Given the description of an element on the screen output the (x, y) to click on. 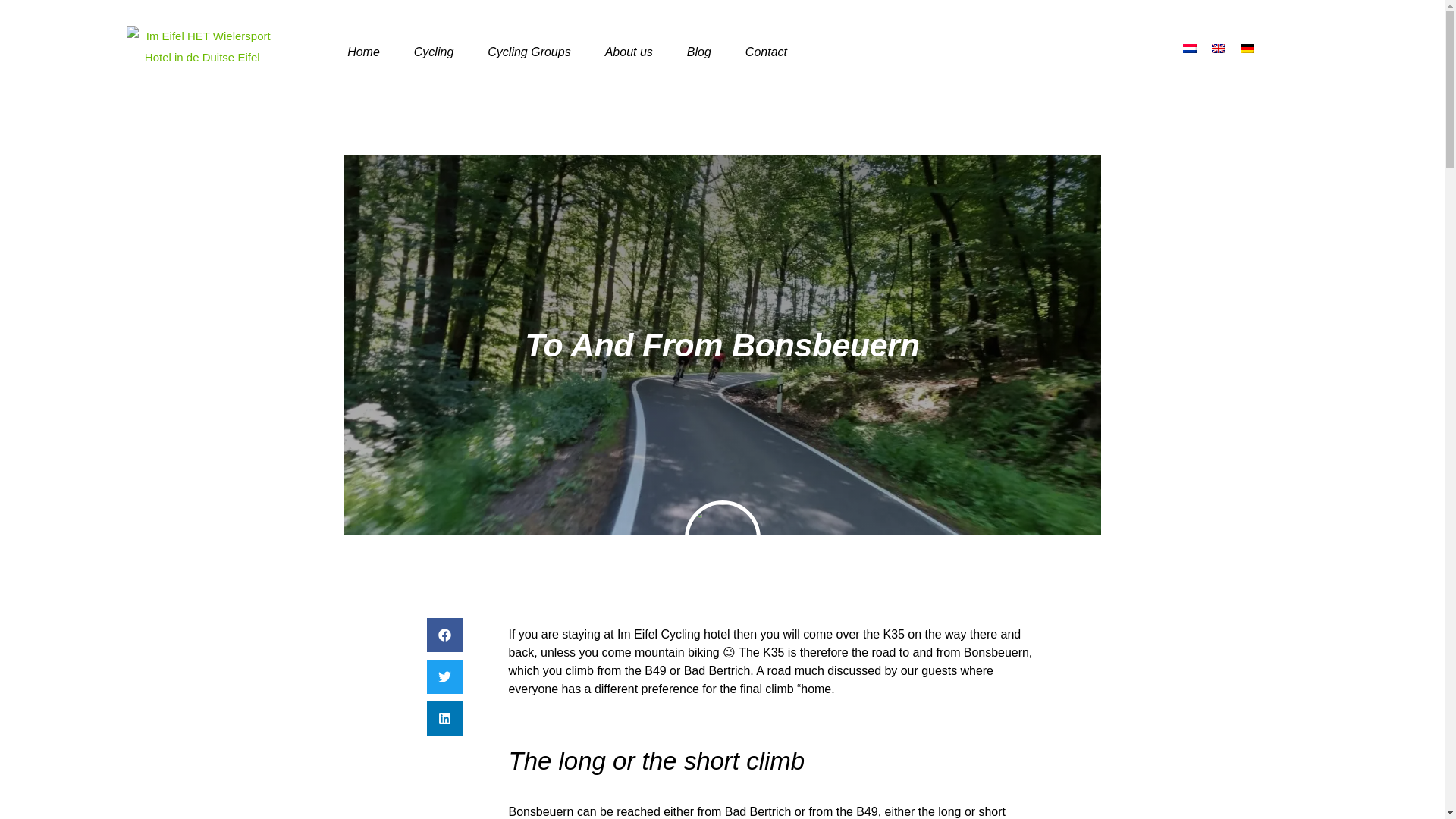
About us (628, 51)
Cycling (433, 51)
Cycling Groups (528, 51)
Im Eifel HET Wielersport Hotel in de Duitse Eifel (202, 46)
Contact (766, 51)
